Given the description of an element on the screen output the (x, y) to click on. 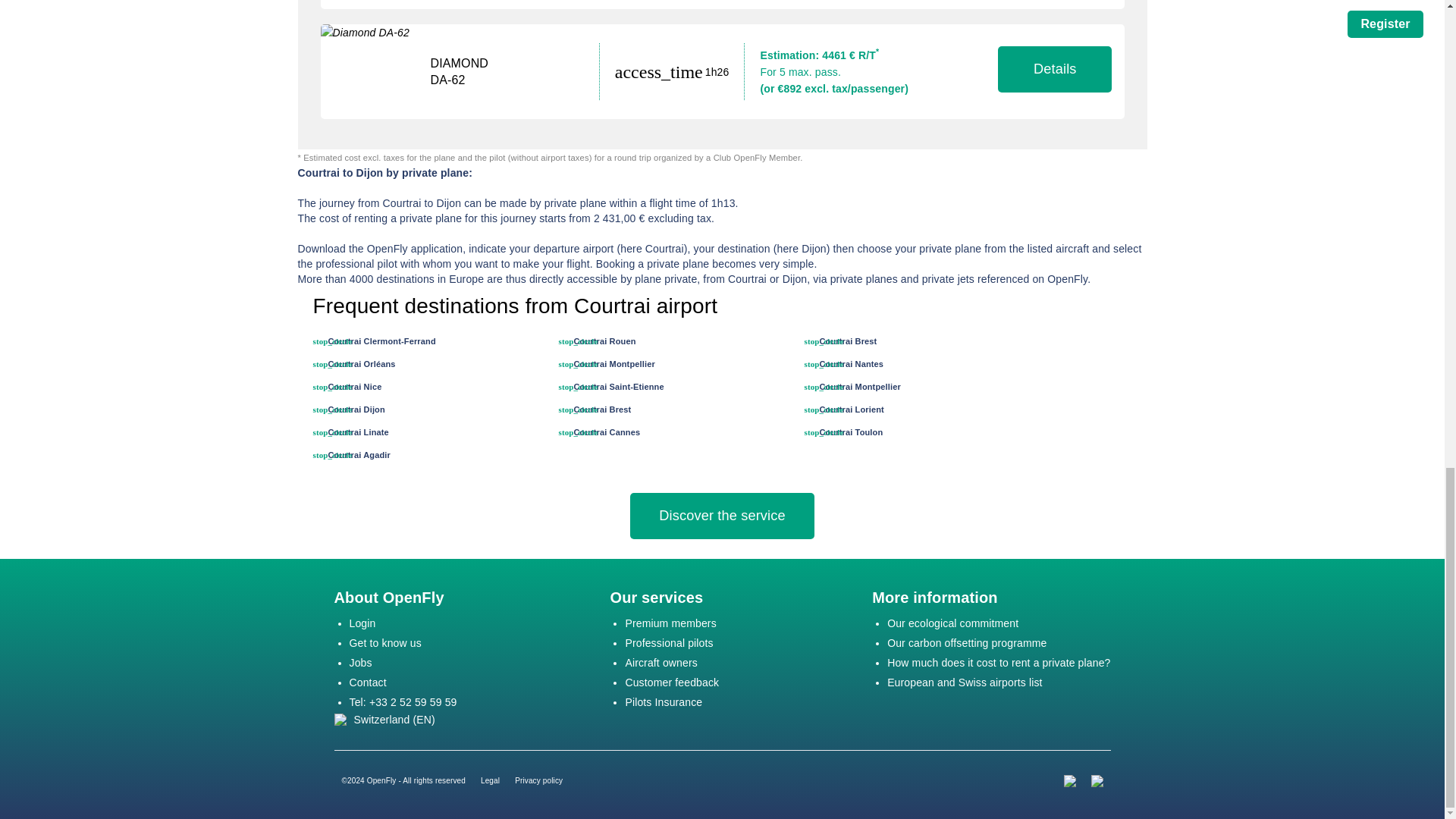
Courtrai Montpellier (858, 386)
Courtrai Dijon (355, 409)
Courtrai Linate (357, 431)
Courtrai Lorient (850, 409)
Courtrai Rouen (603, 340)
Courtrai Brest (847, 340)
Courtrai Cannes (606, 431)
Courtrai Clermont-Ferrand (381, 340)
Details (1054, 68)
Courtrai Saint-Etienne (618, 386)
